Given the description of an element on the screen output the (x, y) to click on. 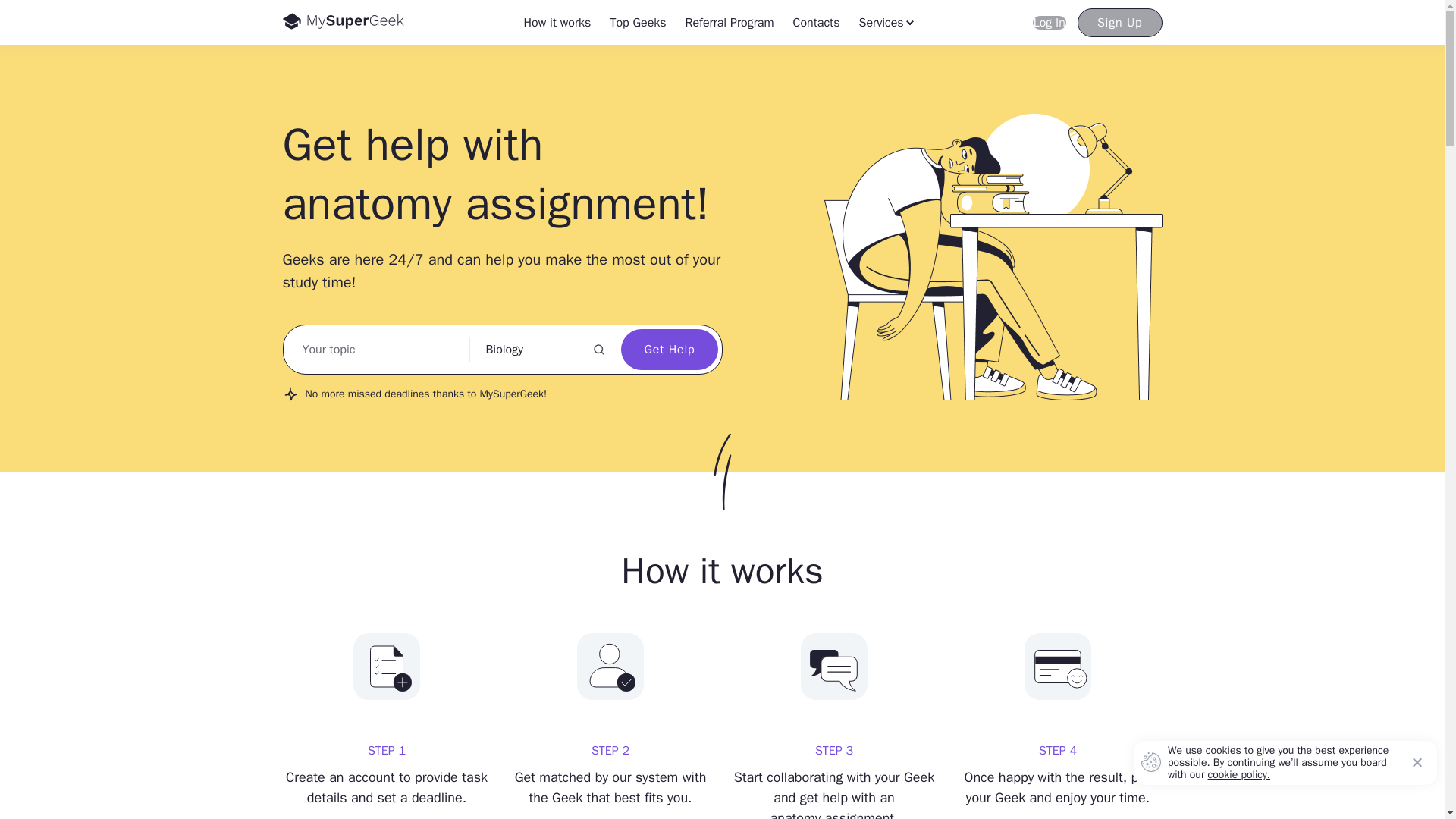
Contacts (816, 22)
Log In (1048, 22)
Get Help (669, 349)
Top Geeks (539, 349)
Referral Program (637, 22)
Sign Up (729, 22)
How it works (1119, 22)
